Given the description of an element on the screen output the (x, y) to click on. 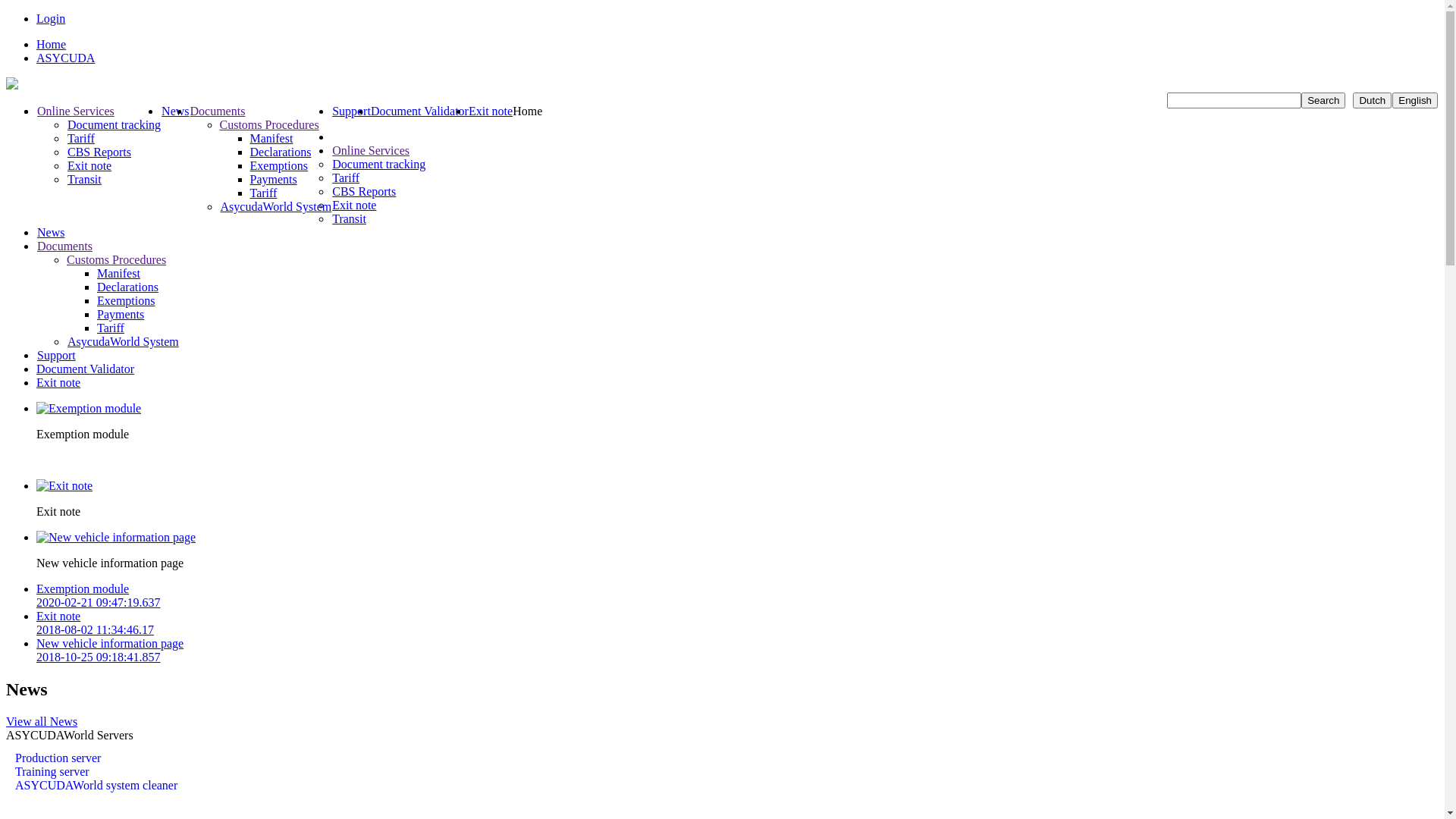
ASYCUDA Element type: text (65, 57)
New vehicle information page
2018-10-25 09:18:41.857 Element type: text (737, 650)
ASYCUDAWorld system cleaner Element type: text (96, 785)
Exit note Element type: text (88, 165)
Document tracking Element type: text (378, 163)
Exit note Element type: text (58, 382)
Production server Element type: text (96, 758)
Dutch Element type: text (1371, 100)
Home Element type: text (50, 43)
Tariff Element type: text (263, 192)
Tariff Element type: text (110, 327)
CBS Reports Element type: text (363, 191)
CBS Reports Element type: text (98, 151)
Online Services Element type: text (370, 150)
Payments Element type: text (120, 313)
Document Validator Element type: text (85, 368)
Declarations Element type: text (127, 286)
Exit note
2018-08-02 11:34:46.17 Element type: text (737, 623)
Document Validator Element type: text (419, 110)
Customs Procedures Element type: text (116, 259)
View all News Element type: text (41, 721)
News Element type: text (174, 110)
Transit Element type: text (348, 218)
Exemption module
2020-02-21 09:47:19.637 Element type: text (737, 595)
Tariff Element type: text (345, 177)
Exit note Element type: text (490, 110)
Support Element type: text (350, 110)
Exemptions Element type: text (125, 300)
Manifest Element type: text (118, 272)
English Element type: text (1414, 100)
Exemptions Element type: text (278, 165)
Manifest Element type: text (271, 137)
Documents Element type: text (64, 245)
Login Element type: text (50, 18)
AsycudaWorld System Element type: text (275, 206)
Payments Element type: text (273, 178)
Transit Element type: text (83, 178)
Online Services Element type: text (75, 110)
Exit note Element type: text (353, 204)
Document tracking Element type: text (113, 124)
Training server Element type: text (96, 771)
Tariff Element type: text (80, 137)
News Element type: text (50, 231)
Documents Element type: text (217, 110)
Search Element type: text (1323, 100)
Declarations Element type: text (280, 151)
AsycudaWorld System Element type: text (122, 341)
Support Element type: text (55, 354)
Customs Procedures Element type: text (269, 124)
